Given the description of an element on the screen output the (x, y) to click on. 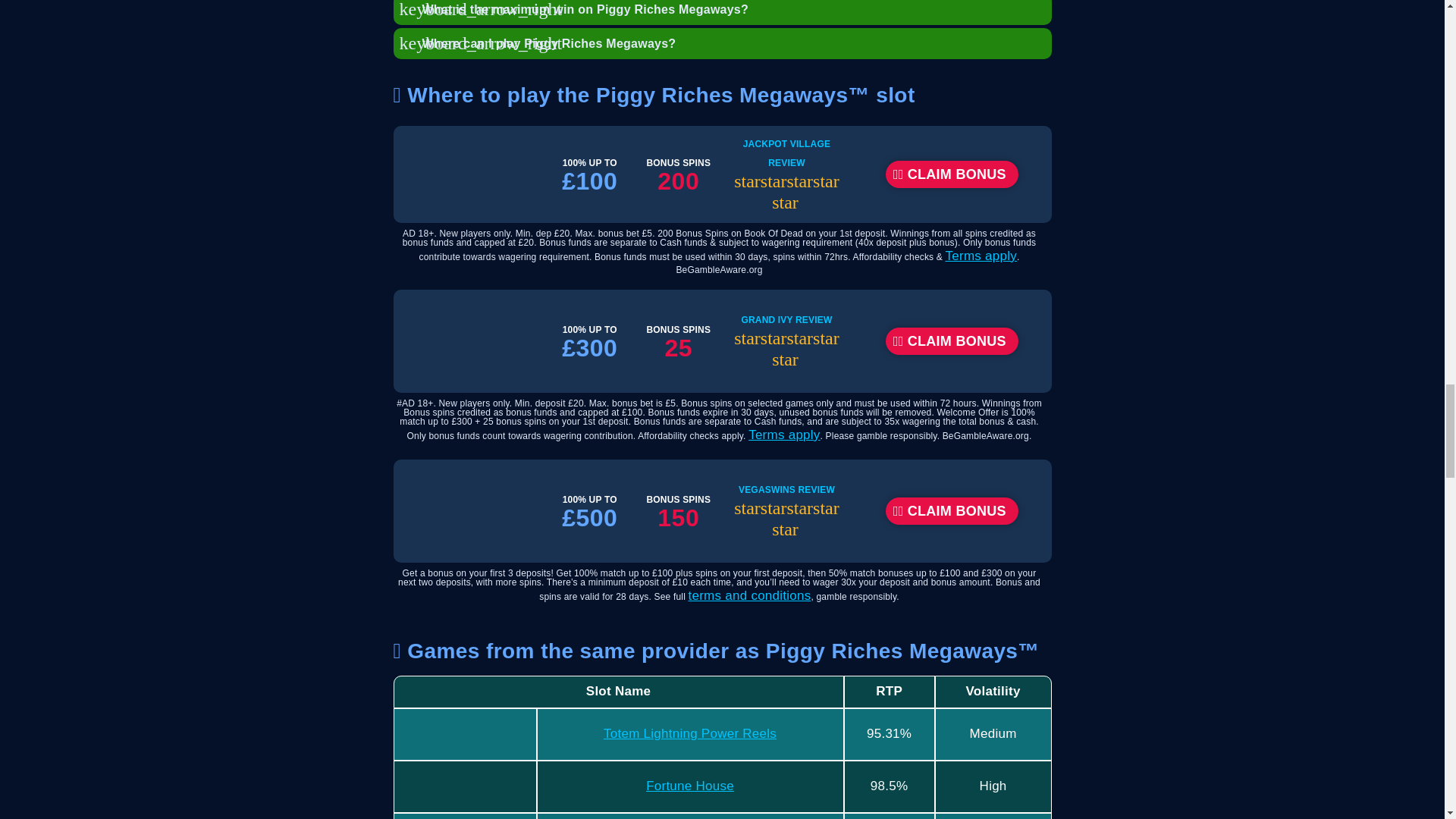
Totem Lightning Power Reels (690, 733)
Grand IVY Casino (786, 319)
terms and conditions (749, 595)
Jackpot Village Casino Review (785, 153)
GRAND IVY REVIEW (786, 319)
Terms apply (783, 434)
VEGASWINS REVIEW (786, 489)
JACKPOT VILLAGE REVIEW (785, 153)
Read the review about VegasWins (786, 489)
Terms apply (980, 255)
